Given the description of an element on the screen output the (x, y) to click on. 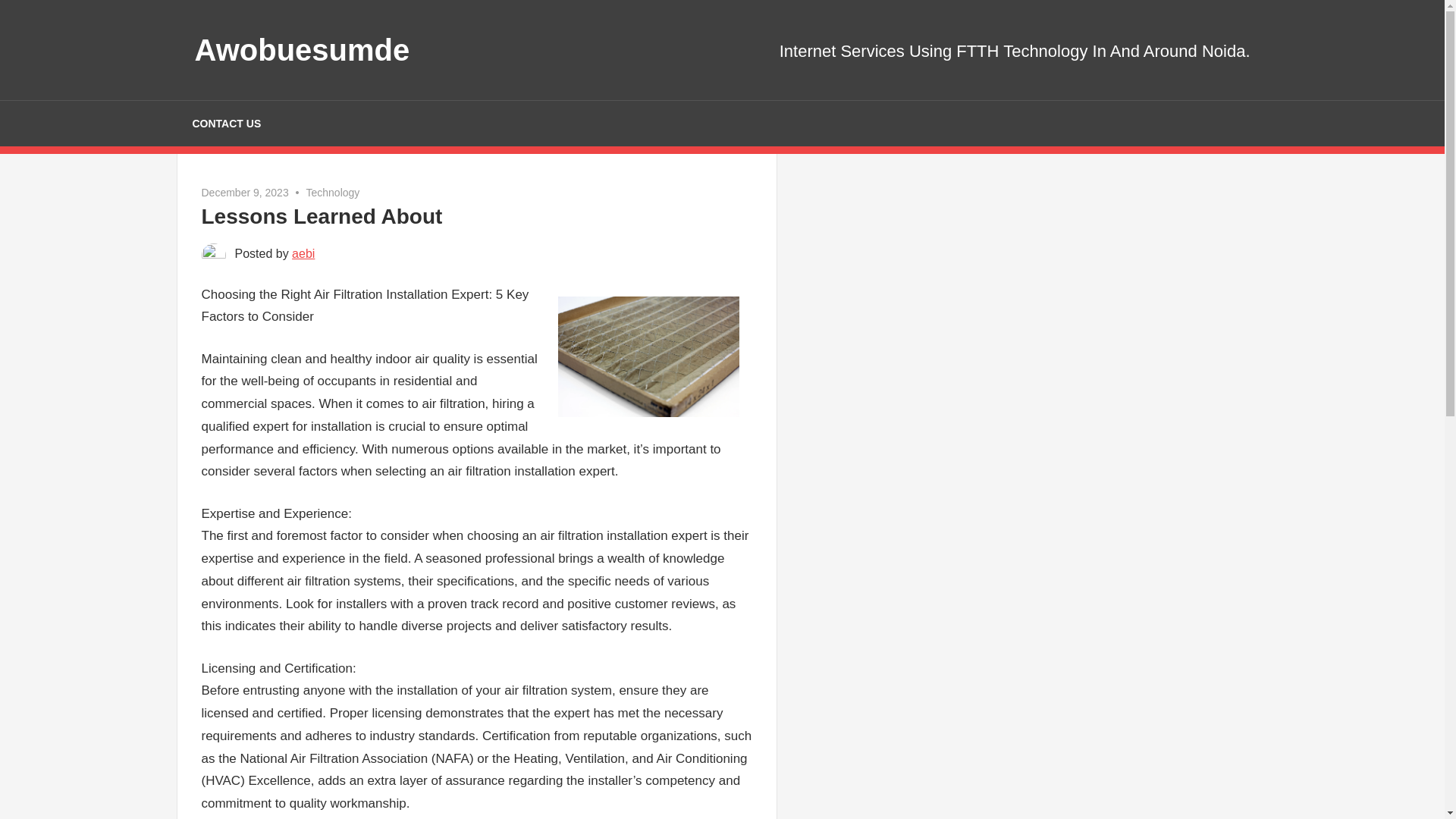
aebi (303, 253)
12:23 pm (245, 192)
View all posts by aebi (303, 253)
Technology (332, 192)
CONTACT US (226, 123)
December 9, 2023 (245, 192)
Awobuesumde (301, 49)
